Given the description of an element on the screen output the (x, y) to click on. 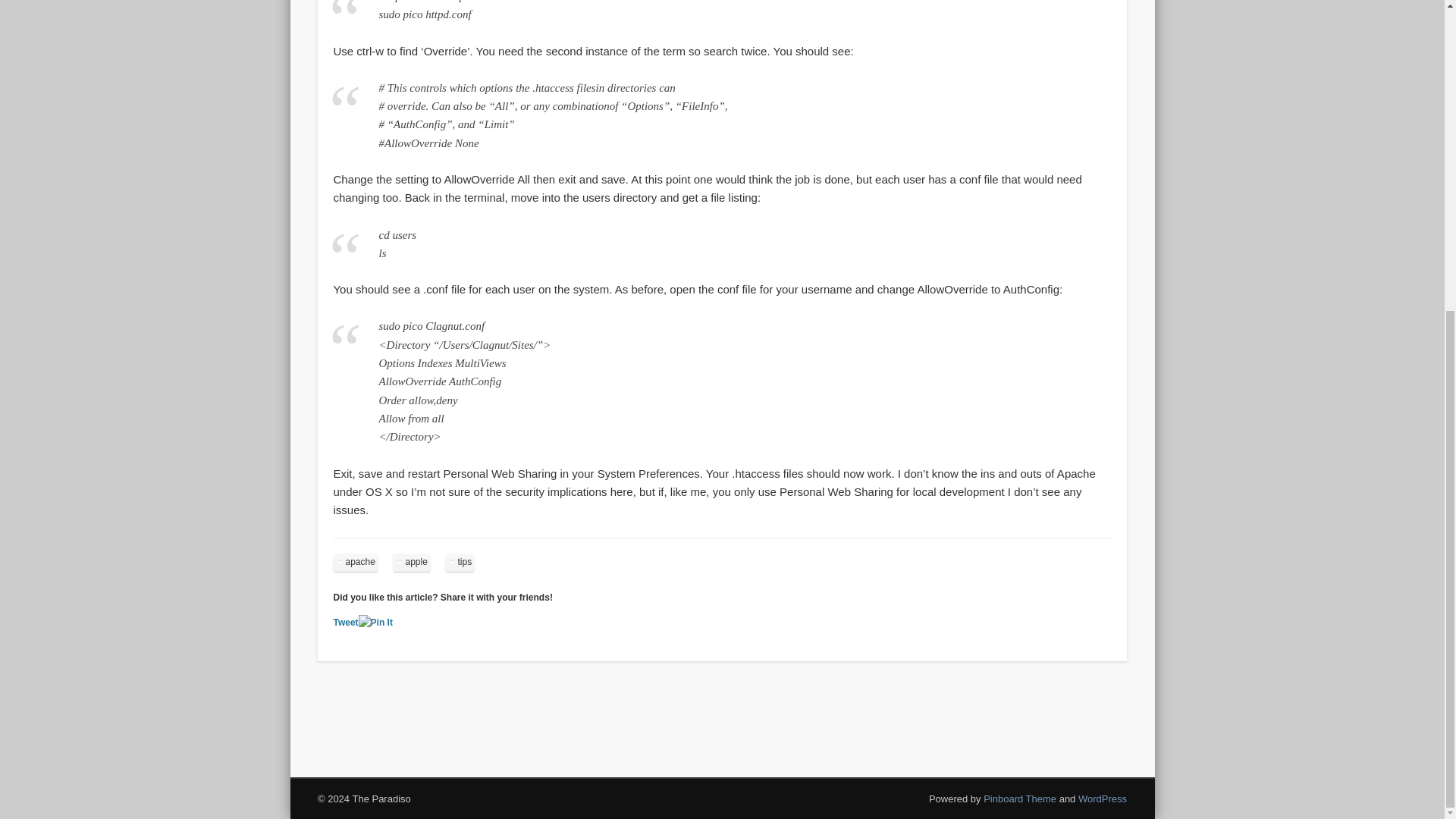
Pinboard Theme (1020, 798)
apple (411, 561)
Tweet (345, 622)
tips (459, 561)
apache (355, 561)
WordPress (1102, 798)
Pin It (375, 622)
Pinboard Theme (1020, 798)
WordPress (1102, 798)
